Given the description of an element on the screen output the (x, y) to click on. 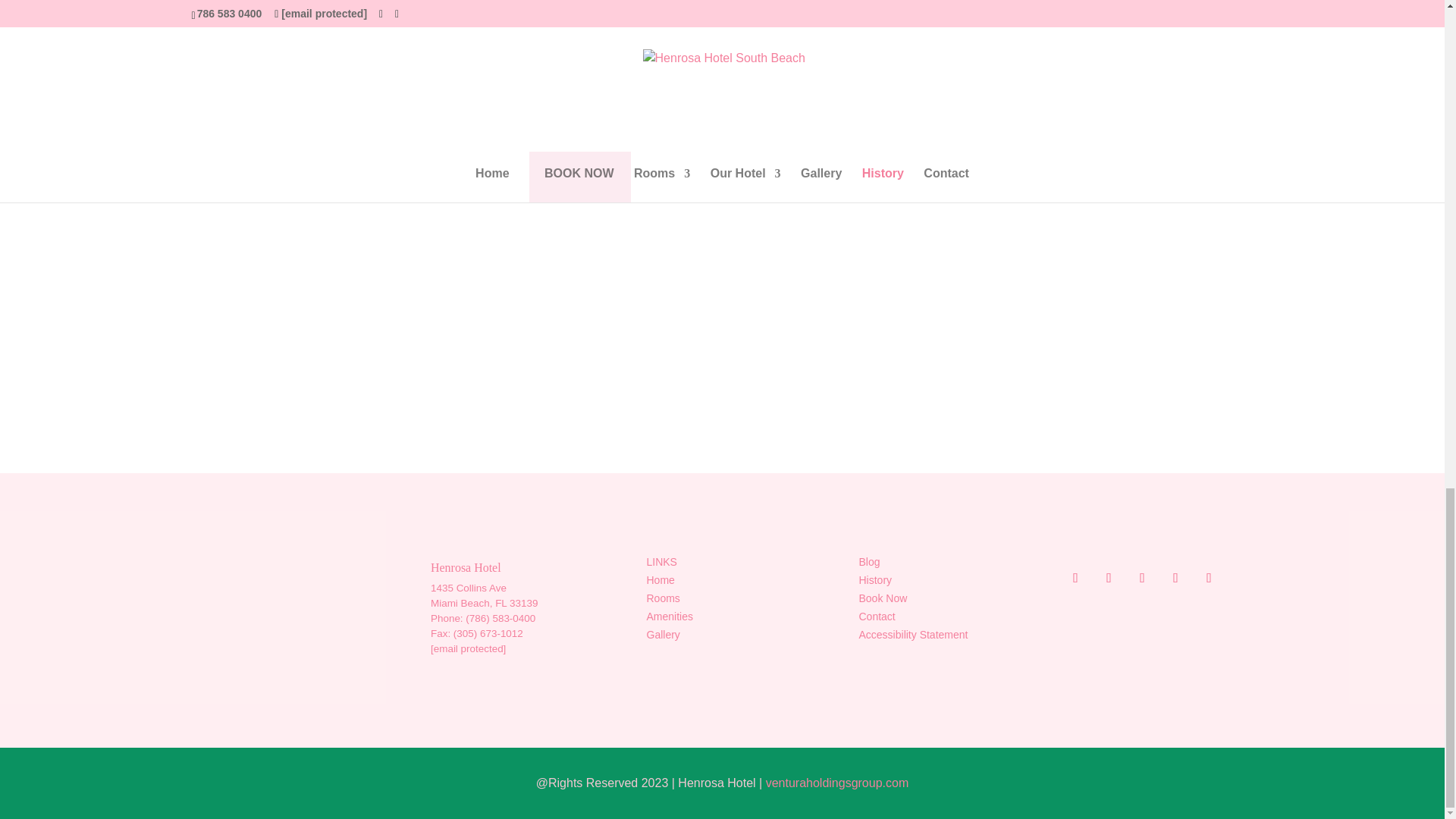
Gallery (662, 634)
Follow on Pinterest (1209, 577)
Blog (869, 562)
Home (660, 580)
Follow on TripAdvisor (1142, 577)
Accessibility Statement (913, 634)
Contact (877, 616)
Follow on Yelp (1175, 577)
Follow on Instagram (1065, 577)
History (875, 580)
